Given the description of an element on the screen output the (x, y) to click on. 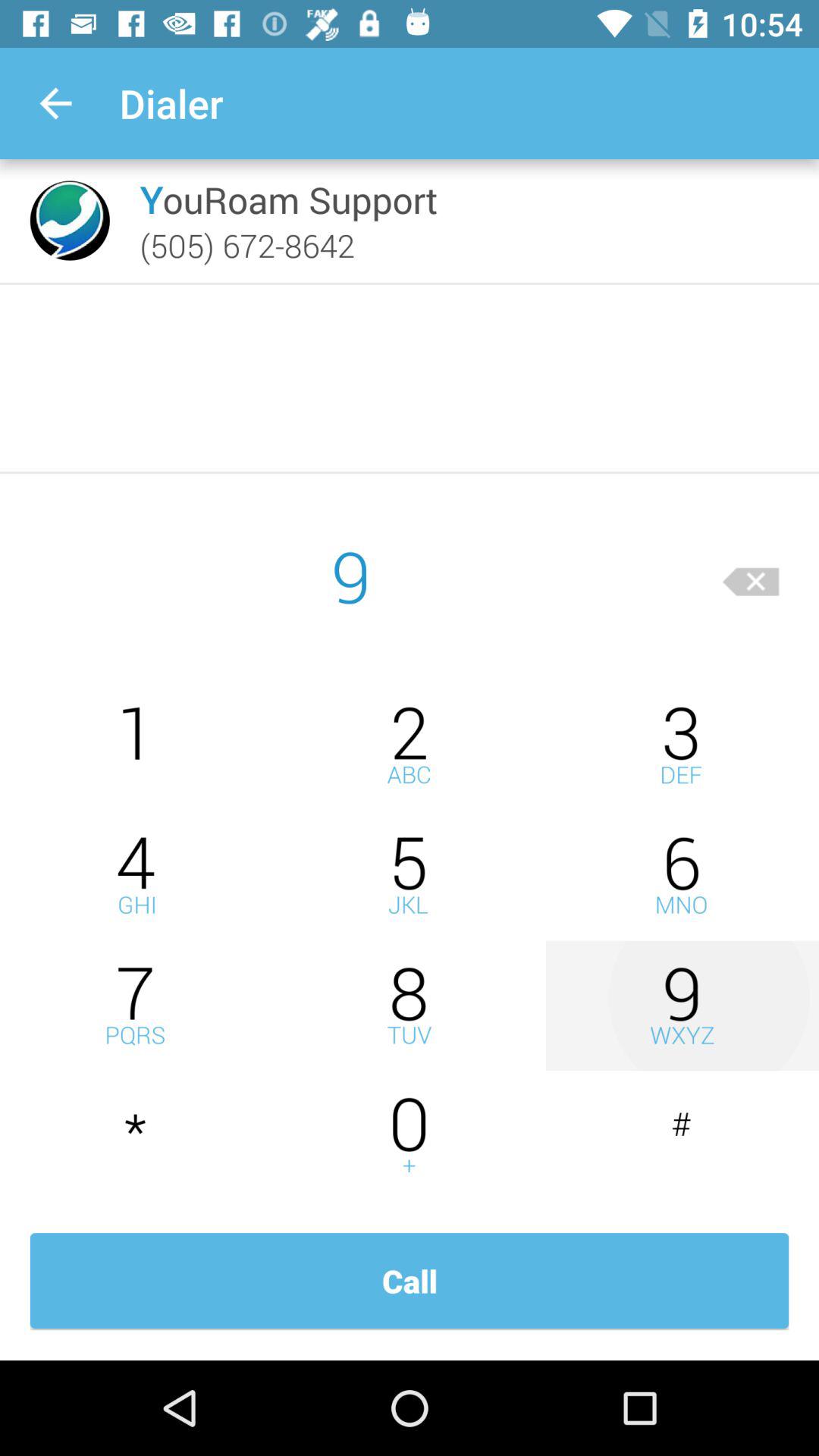
select asterisk on keyboard (136, 1135)
